Given the description of an element on the screen output the (x, y) to click on. 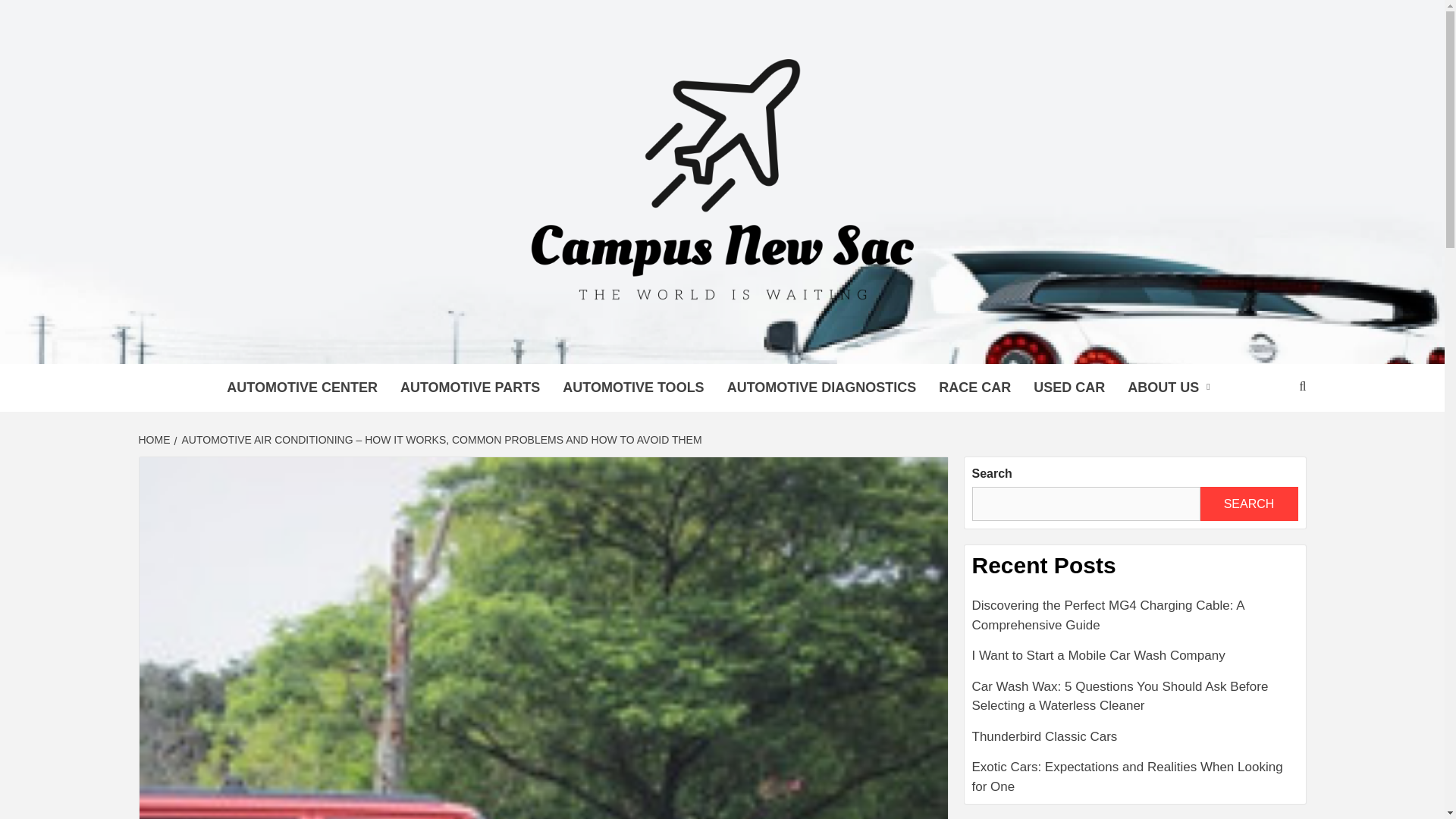
AUTOMOTIVE PARTS (469, 387)
RACE CAR (974, 387)
Thunderbird Classic Cars (1135, 742)
AUTOMOTIVE CENTER (301, 387)
ABOUT US (1172, 387)
AUTOMOTIVE DIAGNOSTICS (822, 387)
I Want to Start a Mobile Car Wash Company (1135, 661)
HOME (155, 439)
SEARCH (1248, 503)
USED CAR (1069, 387)
Exotic Cars: Expectations and Realities When Looking for One (1135, 776)
AUTOMOTIVE TOOLS (632, 387)
CAMPUS NEWS AC (494, 344)
